Given the description of an element on the screen output the (x, y) to click on. 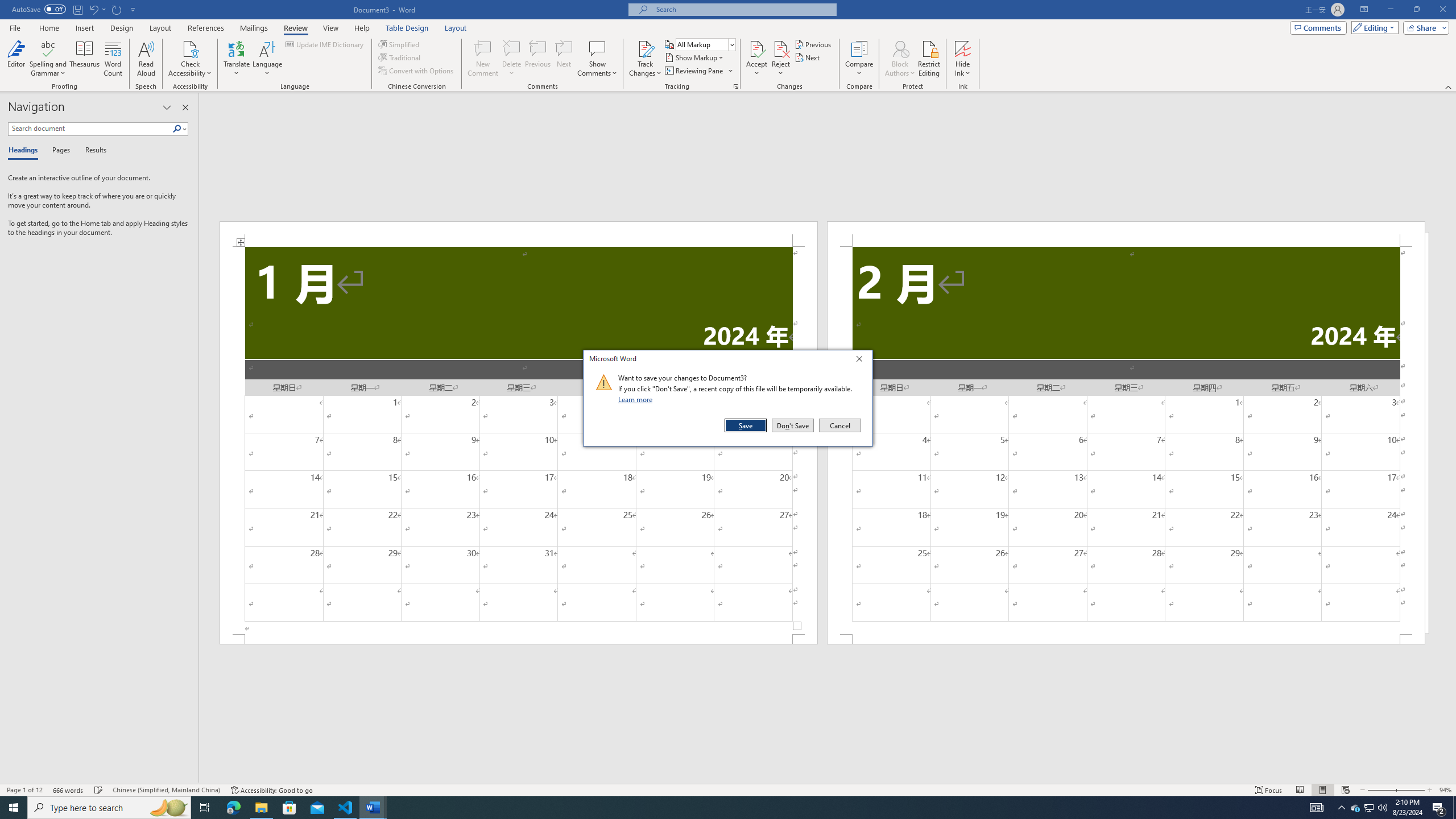
More Options (962, 68)
Read Mode (1299, 790)
Cancel (839, 425)
Pages (59, 150)
Class: NetUIScrollBar (827, 778)
Check Accessibility (189, 58)
File Tab (15, 27)
Type here to search (108, 807)
Read Aloud (145, 58)
References (205, 28)
Notification Chevron (1341, 807)
Delete (511, 58)
Page Number Page 1 of 12 (24, 790)
Word - 2 running windows (373, 807)
Footer -Section 2- (1126, 638)
